Given the description of an element on the screen output the (x, y) to click on. 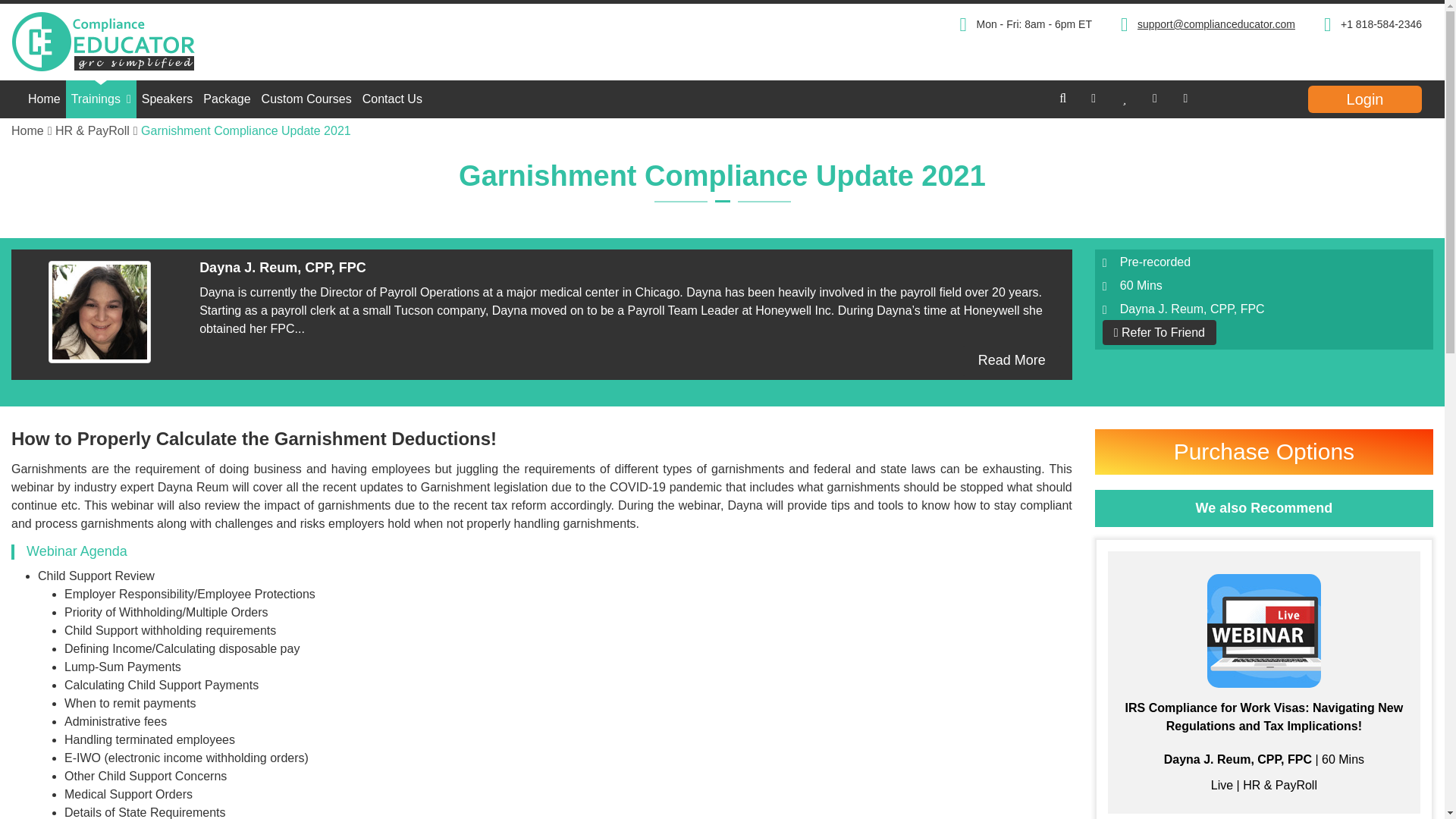
Cart (1155, 97)
CompliancEducator (180, 41)
Dayna J. Reum, CPP, FPC (99, 312)
Read More (1011, 360)
Wishlist (1124, 97)
Speakers (167, 98)
Search (1063, 97)
Custom Courses (306, 98)
Refer To Friend (1158, 332)
Search (1232, 99)
